Given the description of an element on the screen output the (x, y) to click on. 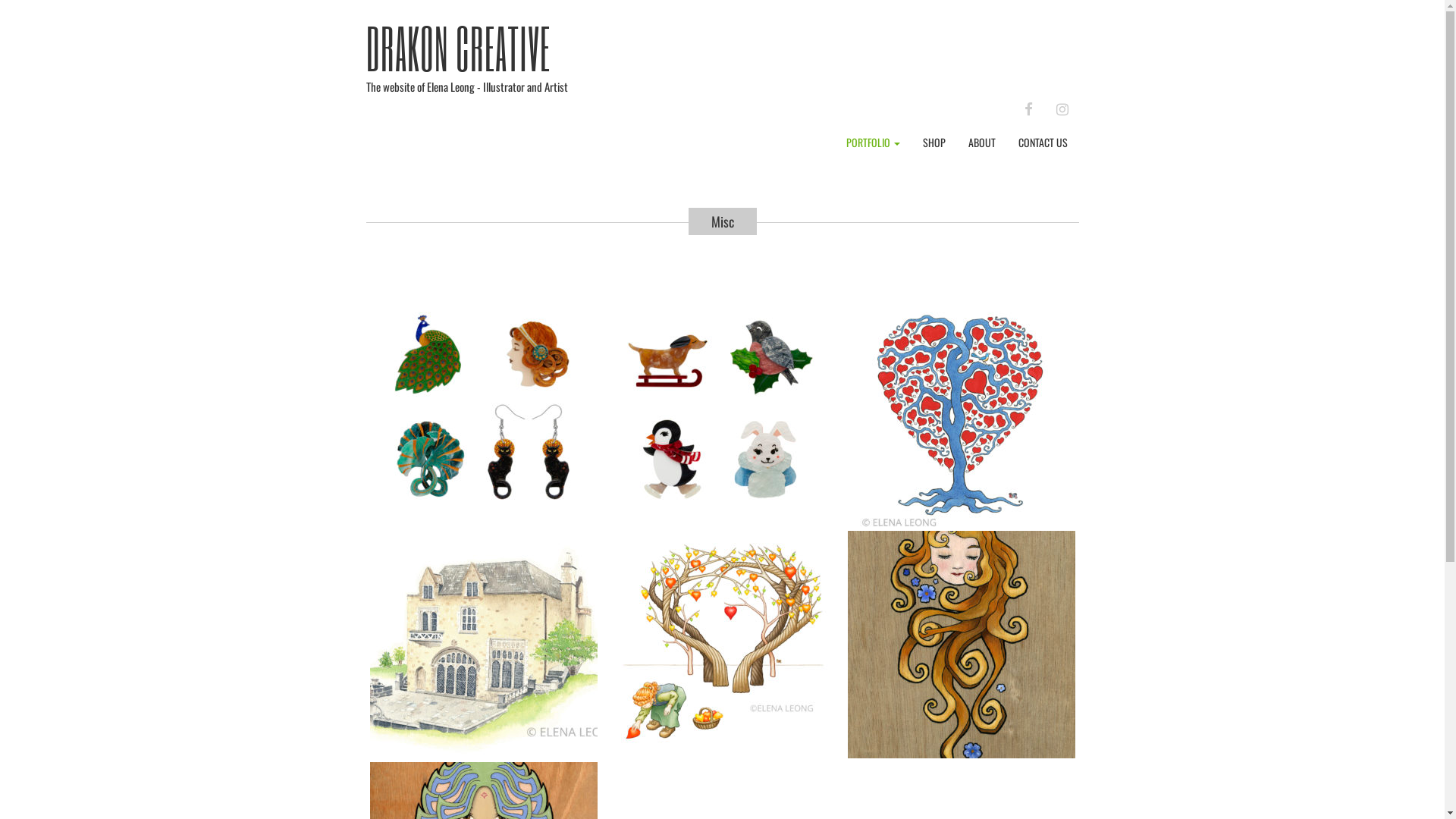
Gigi Element type: hover (960, 644)
PORTFOLIO Element type: text (872, 142)
FACEBOOK Element type: text (1028, 108)
CONTACT US Element type: text (1043, 142)
Erstwilder Xmas Element type: hover (722, 413)
INSTAGRAM Element type: text (1062, 108)
Songbird Sings Element type: hover (960, 413)
DRAKON CREATIVE Element type: text (457, 47)
ABOUT Element type: text (982, 142)
Monsalvat Element type: hover (482, 644)
Misc Element type: text (722, 221)
SHOP Element type: text (934, 142)
Erstwilder Art Nouveau Element type: hover (482, 413)
Heart Tree Element type: hover (722, 644)
